Given the description of an element on the screen output the (x, y) to click on. 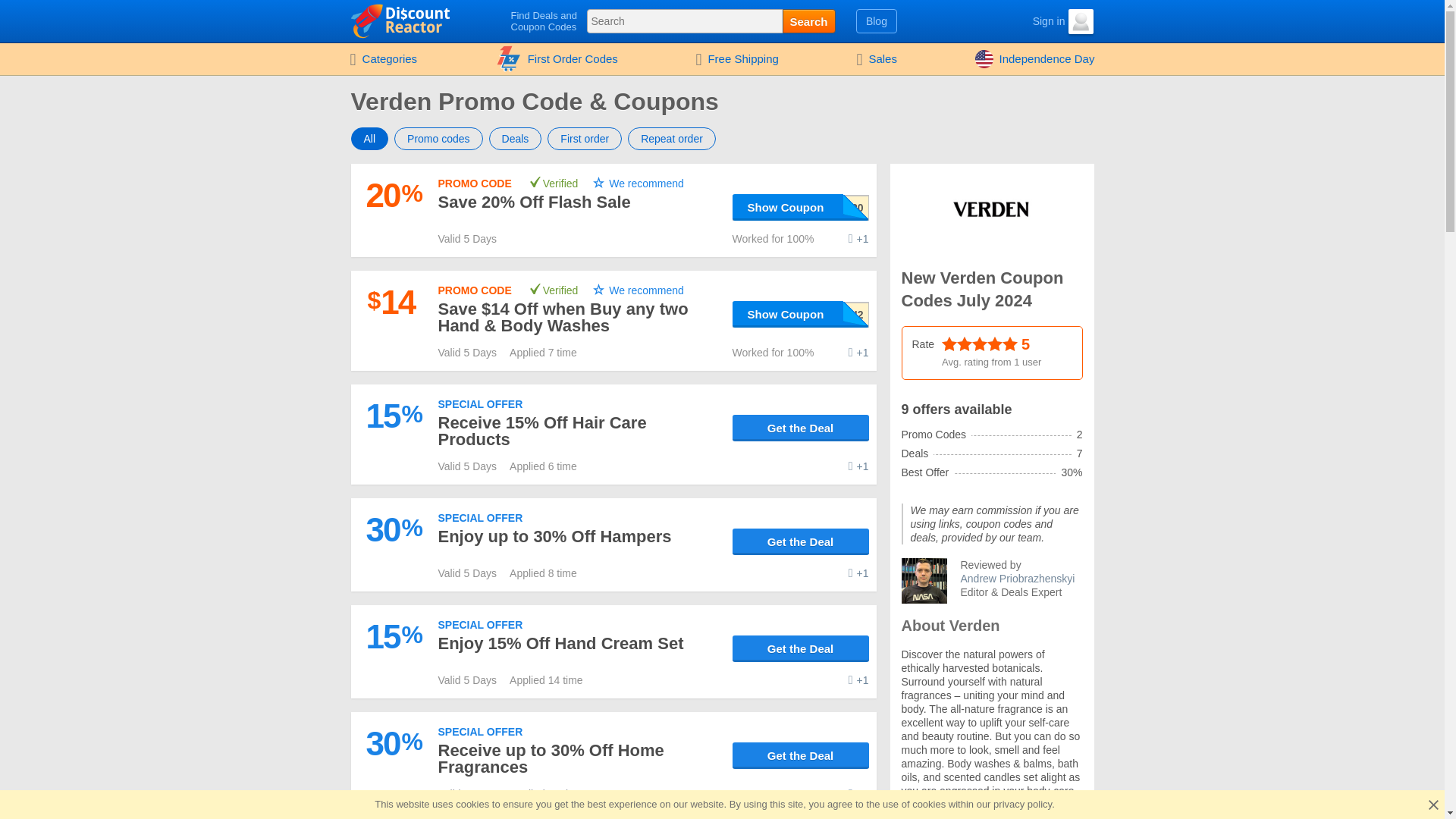
Independence Day (1034, 59)
Leave your comment  (858, 466)
Get the Deal (800, 648)
Leave your comment  (858, 352)
Show Coupon (800, 314)
Get the Deal (800, 427)
Leave your comment  (858, 238)
Free Shipping (736, 59)
Leave your comment  (858, 572)
Show Coupon (800, 207)
Show Coupon (800, 314)
Leave your comment  (858, 793)
Get the Deal (800, 541)
Sign in (1036, 21)
Leave your comment  (858, 680)
